Given the description of an element on the screen output the (x, y) to click on. 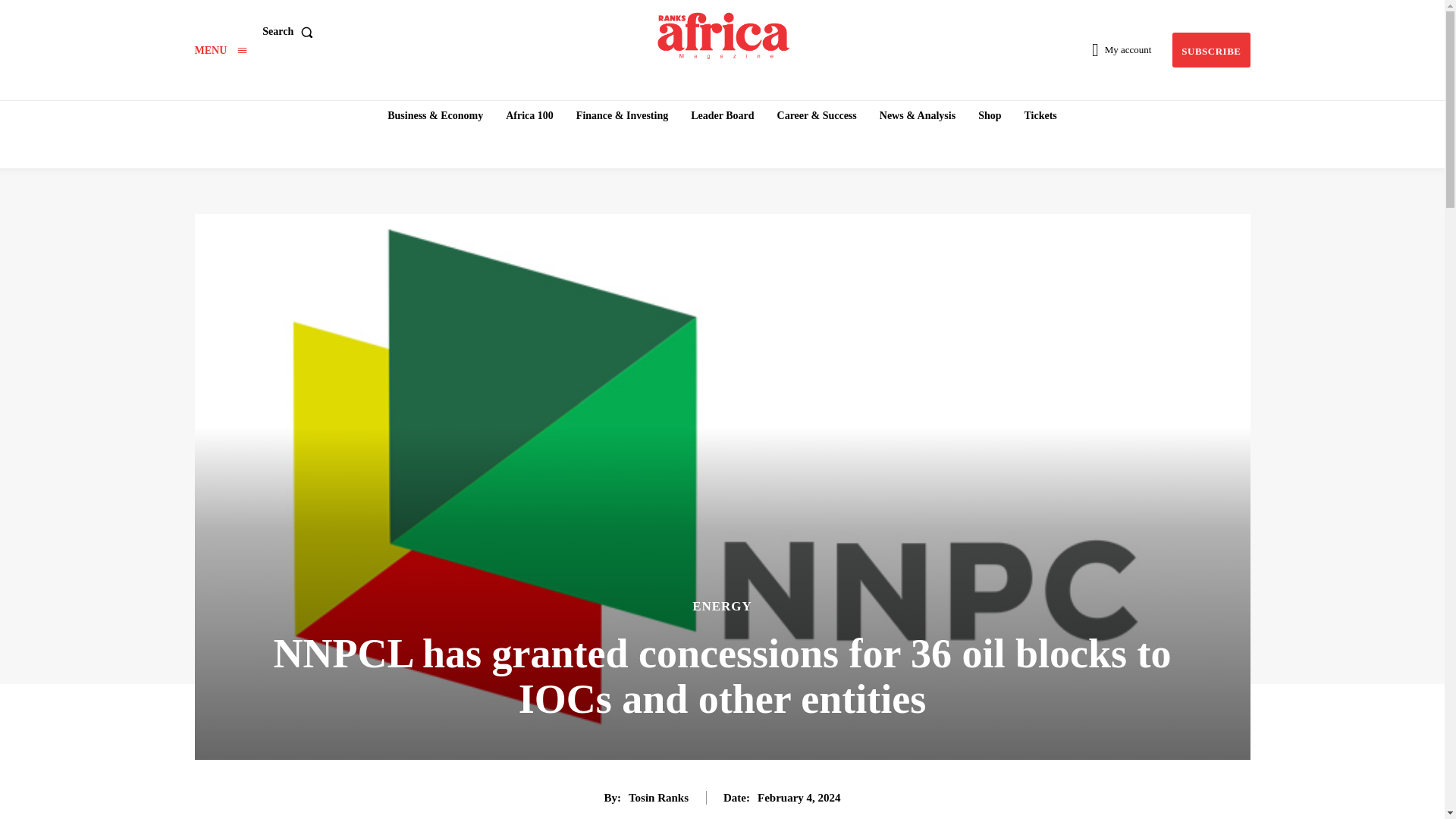
Subscribe (1210, 49)
Ranks Africa (724, 29)
Ranks Africa (723, 29)
Menu (220, 50)
